Given the description of an element on the screen output the (x, y) to click on. 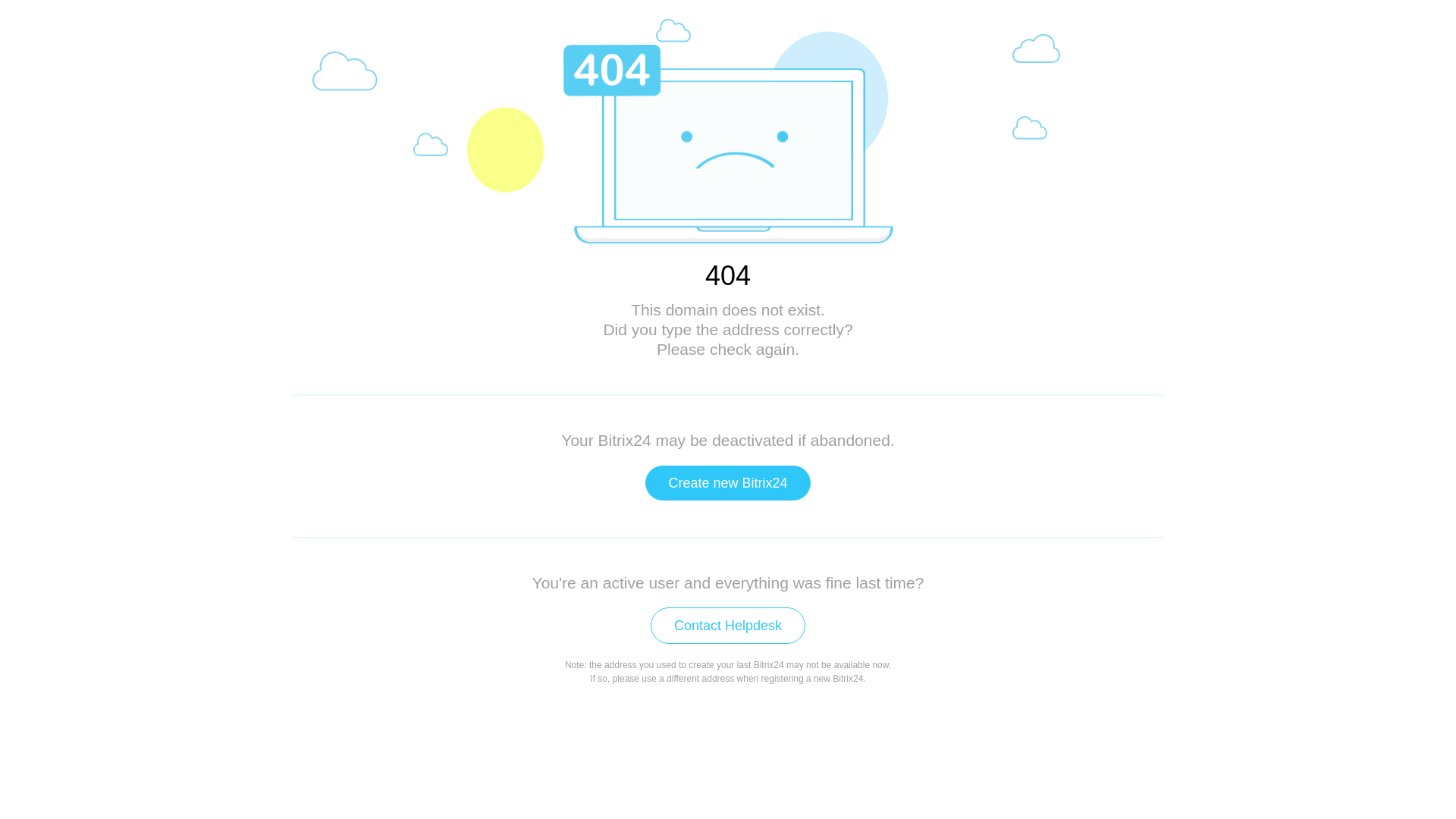
Contact Helpdesk Element type: text (727, 625)
Create new Bitrix24 Element type: text (727, 482)
